Given the description of an element on the screen output the (x, y) to click on. 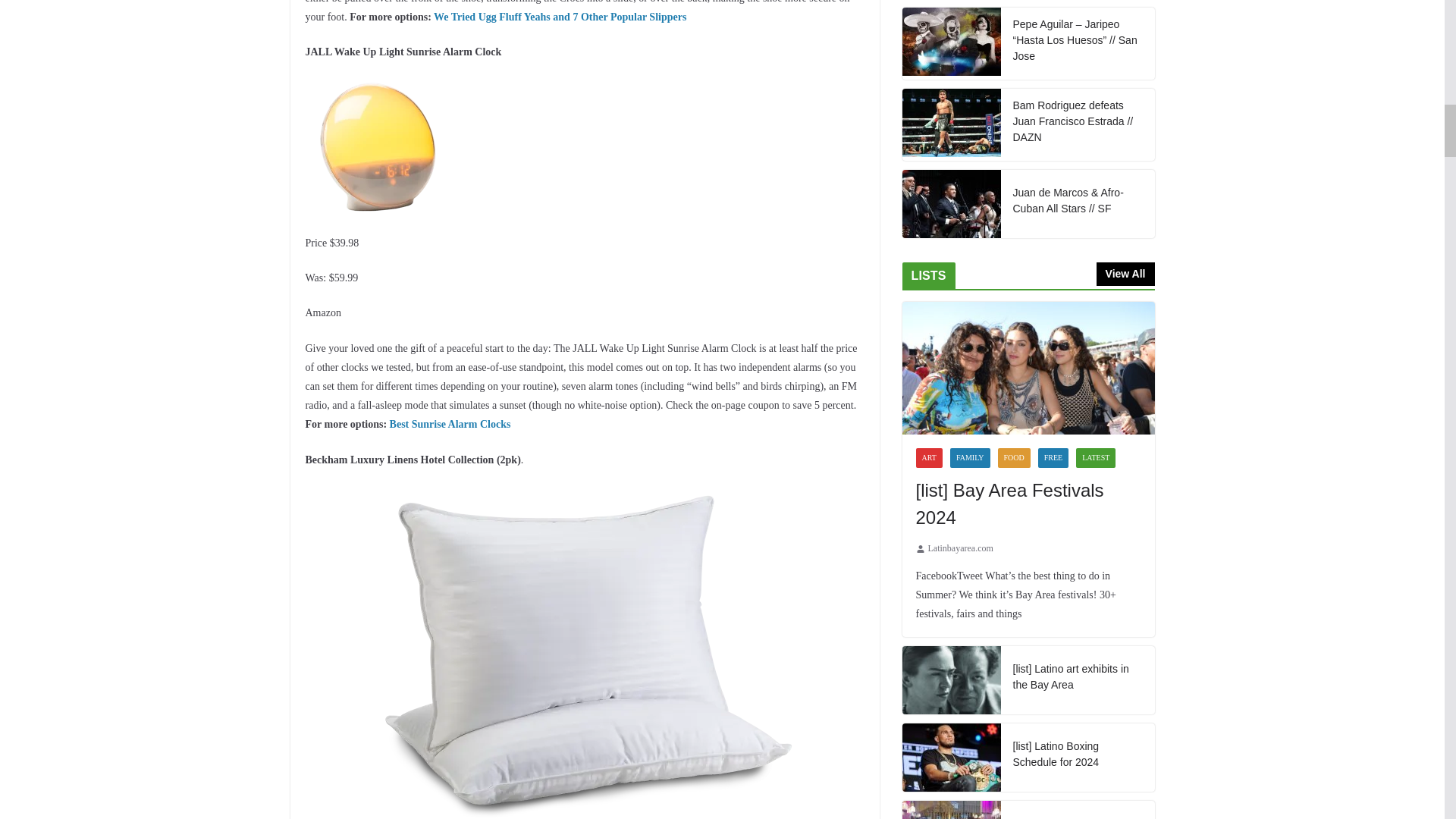
Best Sunrise Alarm Clocks (450, 423)
We Tried Ugg Fluff Yeahs and 7 Other Popular Slippers (559, 16)
